Given the description of an element on the screen output the (x, y) to click on. 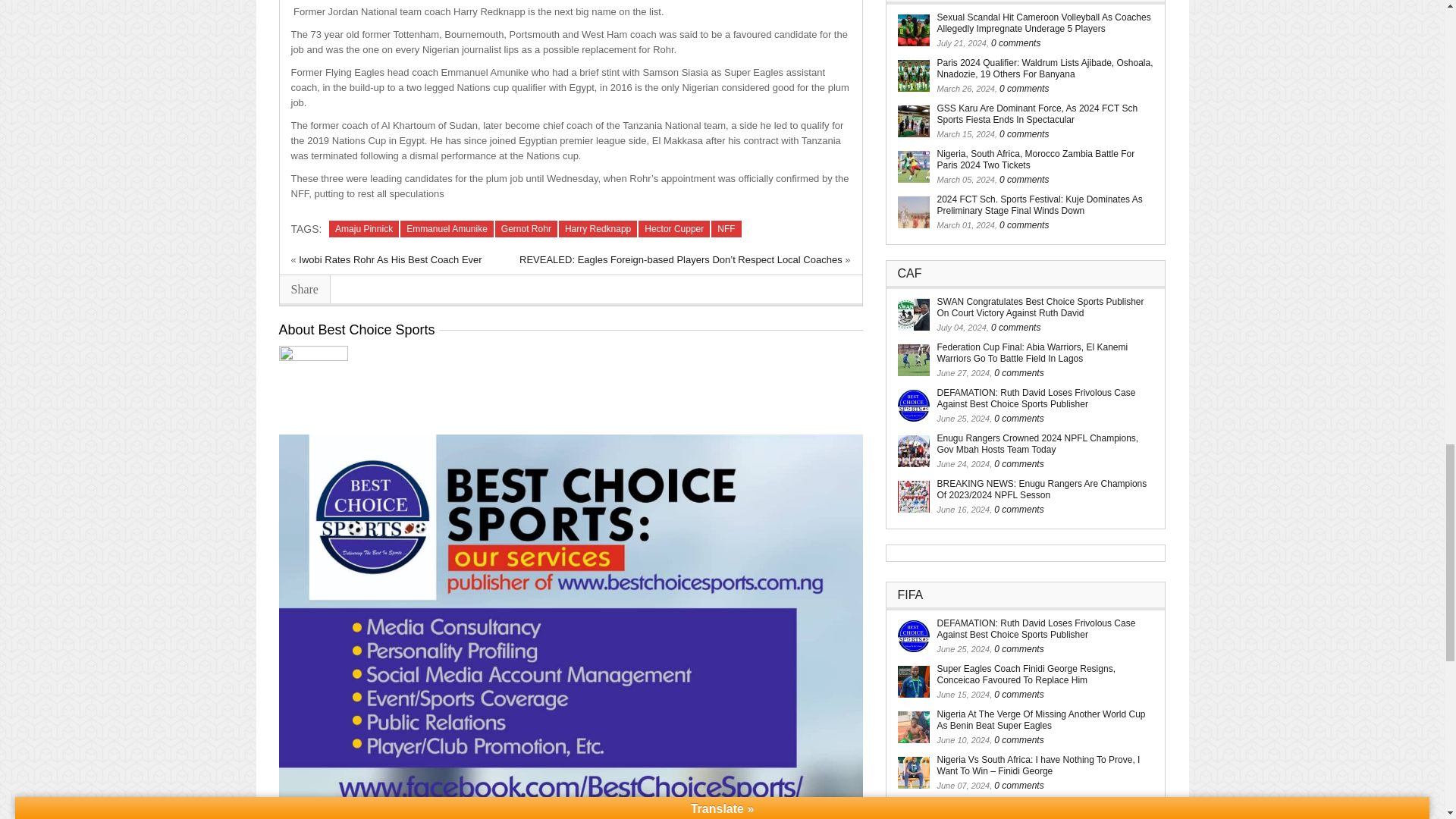
Harry Redknapp (598, 228)
Iwobi Rates Rohr As His Best Coach Ever (389, 259)
Emmanuel Amunike (446, 228)
Hector Cupper (674, 228)
NFF (726, 228)
Amaju Pinnick (363, 228)
Gernot Rohr (526, 228)
